Given the description of an element on the screen output the (x, y) to click on. 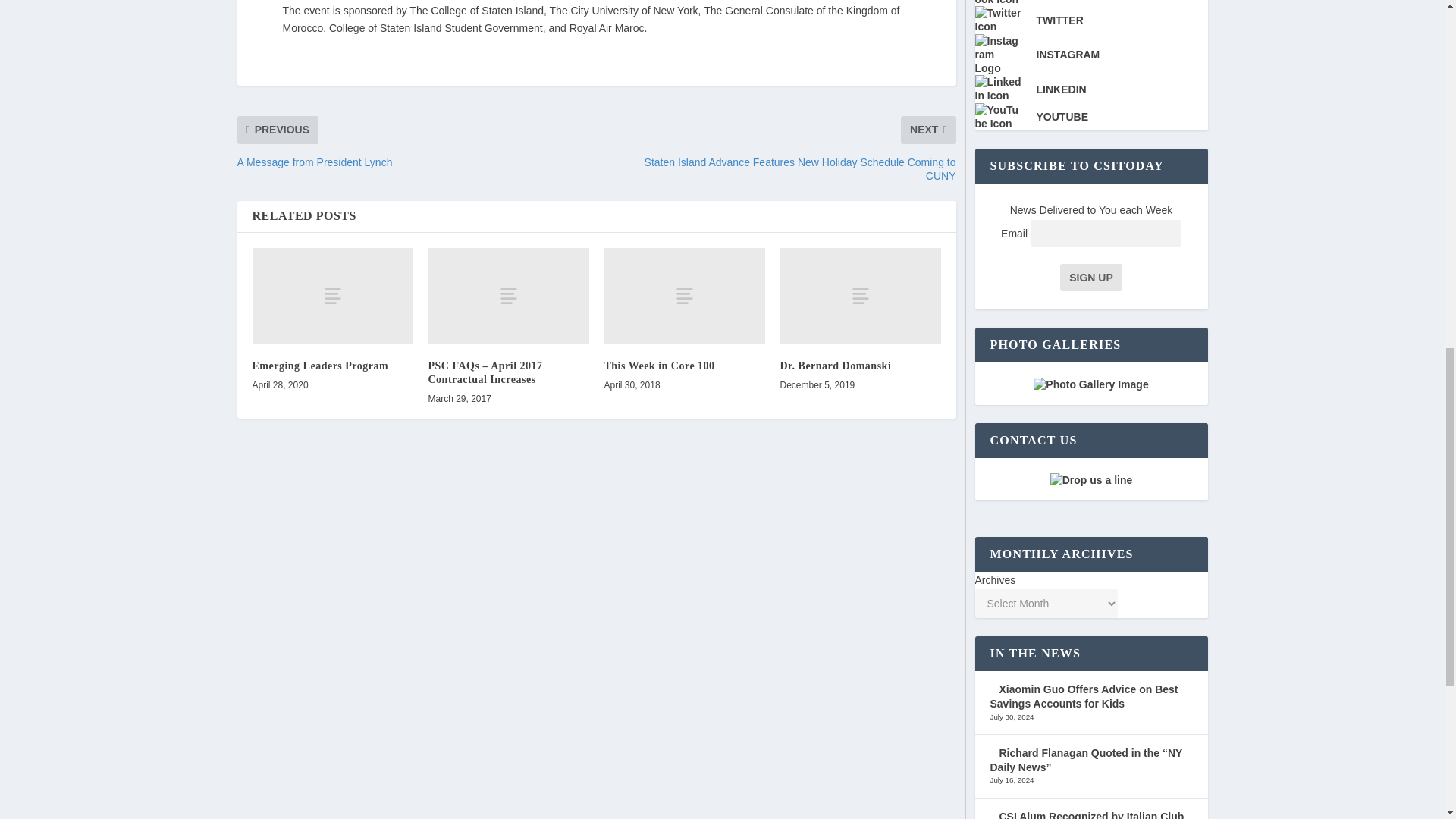
This Week in Core 100 (659, 365)
Dr. Bernard Domanski (859, 295)
Sign up (1090, 277)
Emerging Leaders Program (319, 365)
Emerging Leaders Program (331, 295)
This Week in Core 100 (684, 295)
Dr. Bernard Domanski (834, 365)
